Given the description of an element on the screen output the (x, y) to click on. 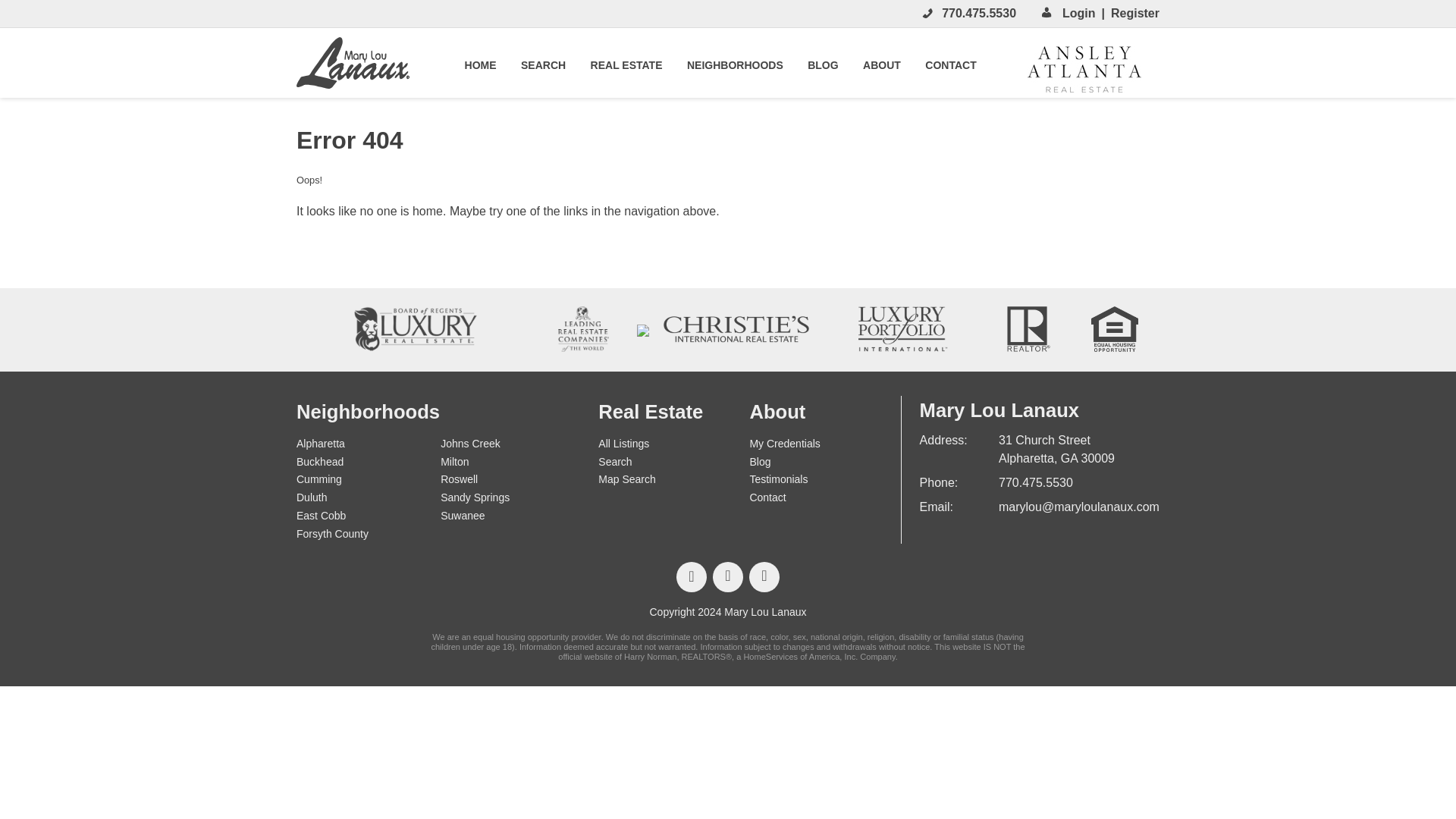
Login (1079, 13)
REAL ESTATE (626, 62)
770.475.5530 (979, 12)
Register (1129, 13)
SEARCH (543, 62)
NEIGHBORHOODS (734, 62)
